Given the description of an element on the screen output the (x, y) to click on. 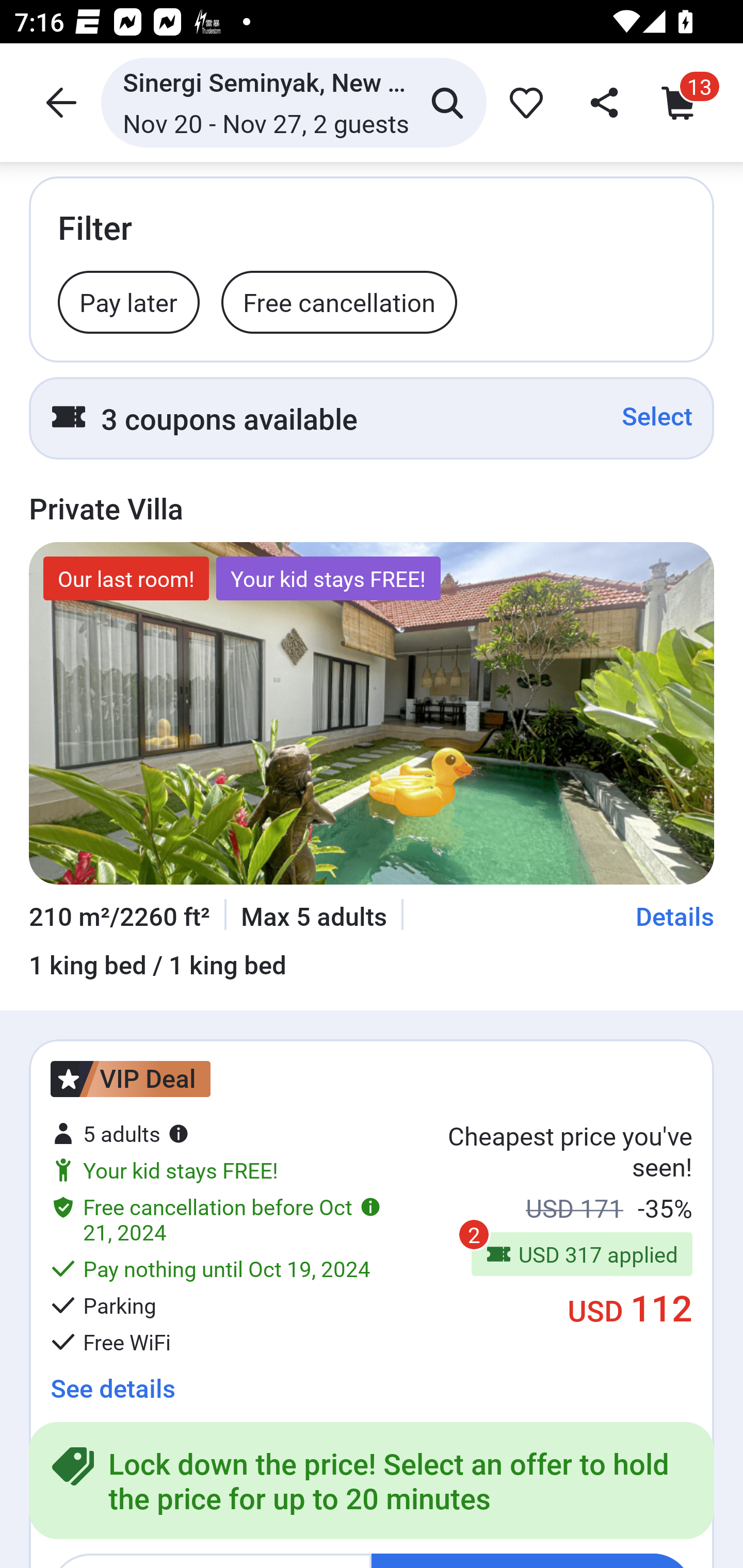
header icon (59, 102)
favorite_icon 0dbe6efb (522, 102)
share_header_icon (601, 102)
Cart icon cart_item_count 13 (683, 102)
Pay later (128, 301)
Free cancellation (338, 301)
Select (656, 416)
3 coupons available Select (371, 417)
image (371, 713)
Details (674, 916)
Free cancellation before Oct 21, 2024 (215, 1219)
